Given the description of an element on the screen output the (x, y) to click on. 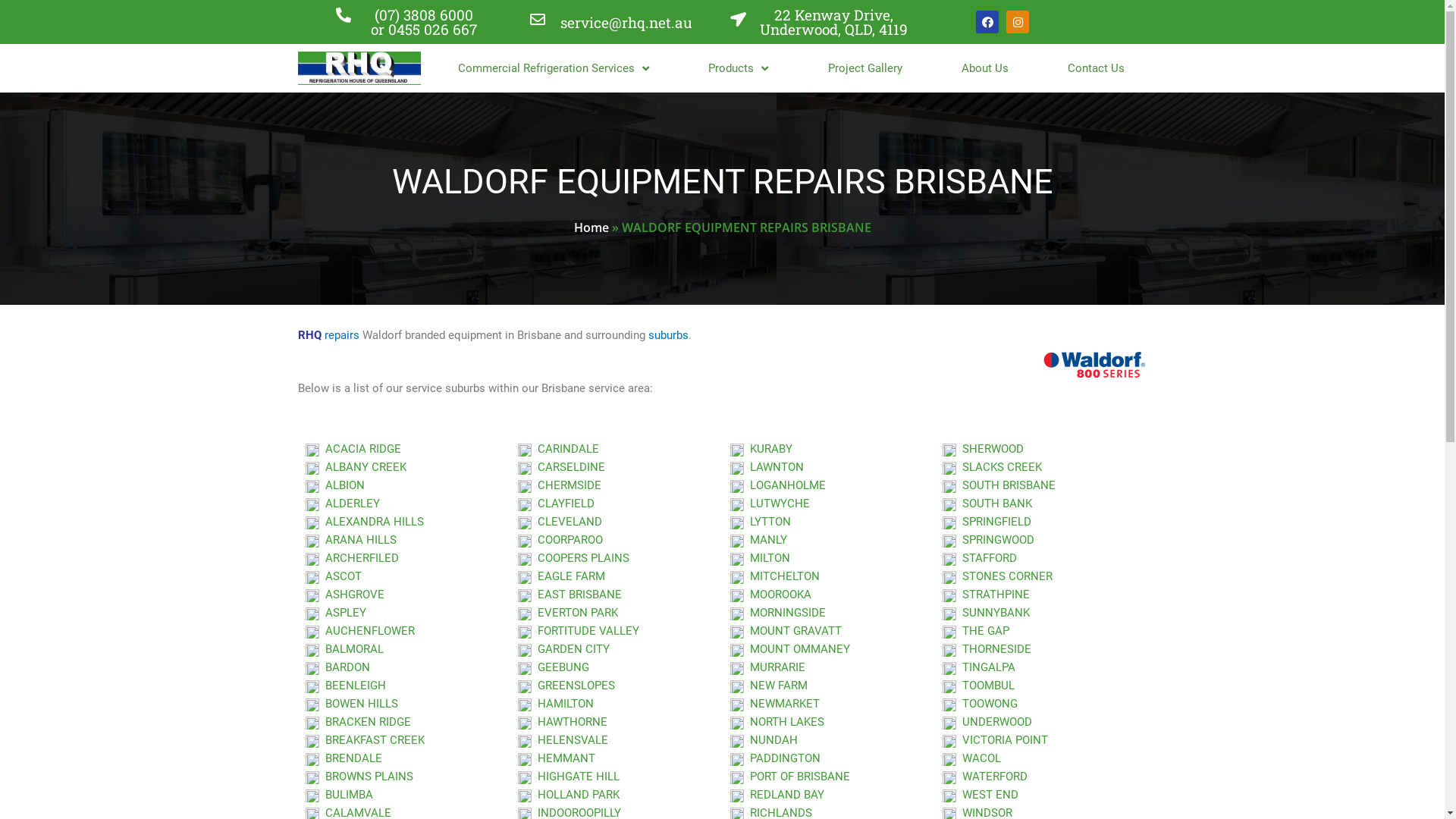
  GARDEN CITY Element type: text (562, 648)
  ARCHERFILED Element type: text (351, 557)
  BULIMBA Element type: text (338, 794)
  EAGLE FARM Element type: text (560, 576)
  AUCHENFLOWER Element type: text (359, 630)
  SPRINGWOOD Element type: text (987, 539)
  BREAKFAST CREEK Element type: text (363, 739)
  BEENLEIGH Element type: text (344, 685)
suburbs Element type: text (667, 335)
  MANLY Element type: text (757, 539)
  WACOL Element type: text (970, 758)
  BOWEN HILLS Element type: text (350, 703)
About Us Element type: text (984, 67)
  THE GAP Element type: text (974, 630)
  REDLAND BAY Element type: text (776, 794)
  SHERWOOD Element type: text (981, 448)
  EVERTON PARK Element type: text (567, 612)
  PADDINGTON Element type: text (774, 758)
  VICTORIA POINT Element type: text (994, 739)
  LOGANHOLME Element type: text (777, 485)
  STAFFORD Element type: text (978, 557)
  NORTH LAKES Element type: text (776, 721)
  TOOWONG Element type: text (978, 703)
  MORNINGSIDE Element type: text (777, 612)
Products Element type: text (737, 67)
  HAMILTON Element type: text (555, 703)
  ALBANY CREEK Element type: text (354, 466)
  WATERFORD Element type: text (983, 776)
  MITCHELTON Element type: text (774, 576)
  NUNDAH Element type: text (763, 739)
  SOUTH BANK Element type: text (986, 503)
  SLACKS CREEK Element type: text (991, 466)
  TINGALPA Element type: text (977, 667)
  CLAYFIELD Element type: text (555, 503)
Commercial Refrigeration Services Element type: text (553, 67)
  LYTTON Element type: text (759, 521)
  CLEVELAND Element type: text (559, 521)
  KURABY Element type: text (760, 448)
  MOUNT OMMANEY Element type: text (789, 648)
  THORNESIDE Element type: text (985, 648)
  HIGHGATE HILL Element type: text (567, 776)
  SPRINGFIELD Element type: text (985, 521)
22 Kenway Drive, Underwood, QLD, 4119 Element type: text (833, 21)
  MOOROOKA Element type: text (769, 594)
  COOPERS PLAINS Element type: text (572, 557)
  WEST END Element type: text (979, 794)
  CARSELDINE Element type: text (560, 466)
  GEEBUNG Element type: text (552, 667)
  SOUTH BRISBANE Element type: text (997, 485)
Home Element type: text (590, 227)
  PORT OF BRISBANE Element type: text (789, 776)
  STRATHPINE Element type: text (985, 594)
  BRACKEN RIDGE Element type: text (357, 721)
  COORPAROO Element type: text (559, 539)
  CARINDALE Element type: text (557, 448)
  HAWTHORNE Element type: text (561, 721)
  BARDON Element type: text (336, 667)
  EAST BRISBANE Element type: text (569, 594)
  GREENSLOPES Element type: text (565, 685)
  ASHGROVE Element type: text (343, 594)
  BRENDALE Element type: text (342, 758)
  ARANA HILLS Element type: text (349, 539)
  MURRARIE Element type: text (766, 667)
  ACACIA RIDGE Element type: text (352, 448)
  FORTITUDE VALLEY Element type: text (577, 630)
  ALDERLEY Element type: text (341, 503)
service@rhq.net.au Element type: text (626, 21)
  NEW FARM Element type: text (767, 685)
  BALMORAL Element type: text (343, 648)
  CHERMSIDE Element type: text (558, 485)
  BROWNS PLAINS Element type: text (358, 776)
  UNDERWOOD Element type: text (986, 721)
  SUNNYBANK Element type: text (985, 612)
Contact Us Element type: text (1096, 67)
  STONES CORNER Element type: text (996, 576)
  HOLLAND PARK Element type: text (567, 794)
Project Gallery Element type: text (864, 67)
repairs Element type: text (341, 335)
  MILTON Element type: text (759, 557)
  HELENSVALE Element type: text (562, 739)
  LUTWYCHE Element type: text (769, 503)
  NEWMARKET Element type: text (774, 703)
  ASCOT Element type: text (332, 576)
  MOUNT GRAVATT Element type: text (784, 630)
  HEMMANT Element type: text (555, 758)
  LAWNTON Element type: text (766, 466)
  ASPLEY Element type: text (334, 612)
  ALBION Element type: text (334, 485)
(07) 3808 6000
or 0455 026 667 Element type: text (423, 21)
  ALEXANDRA HILLS Element type: text (363, 521)
  TOOMBUL Element type: text (977, 685)
